Given the description of an element on the screen output the (x, y) to click on. 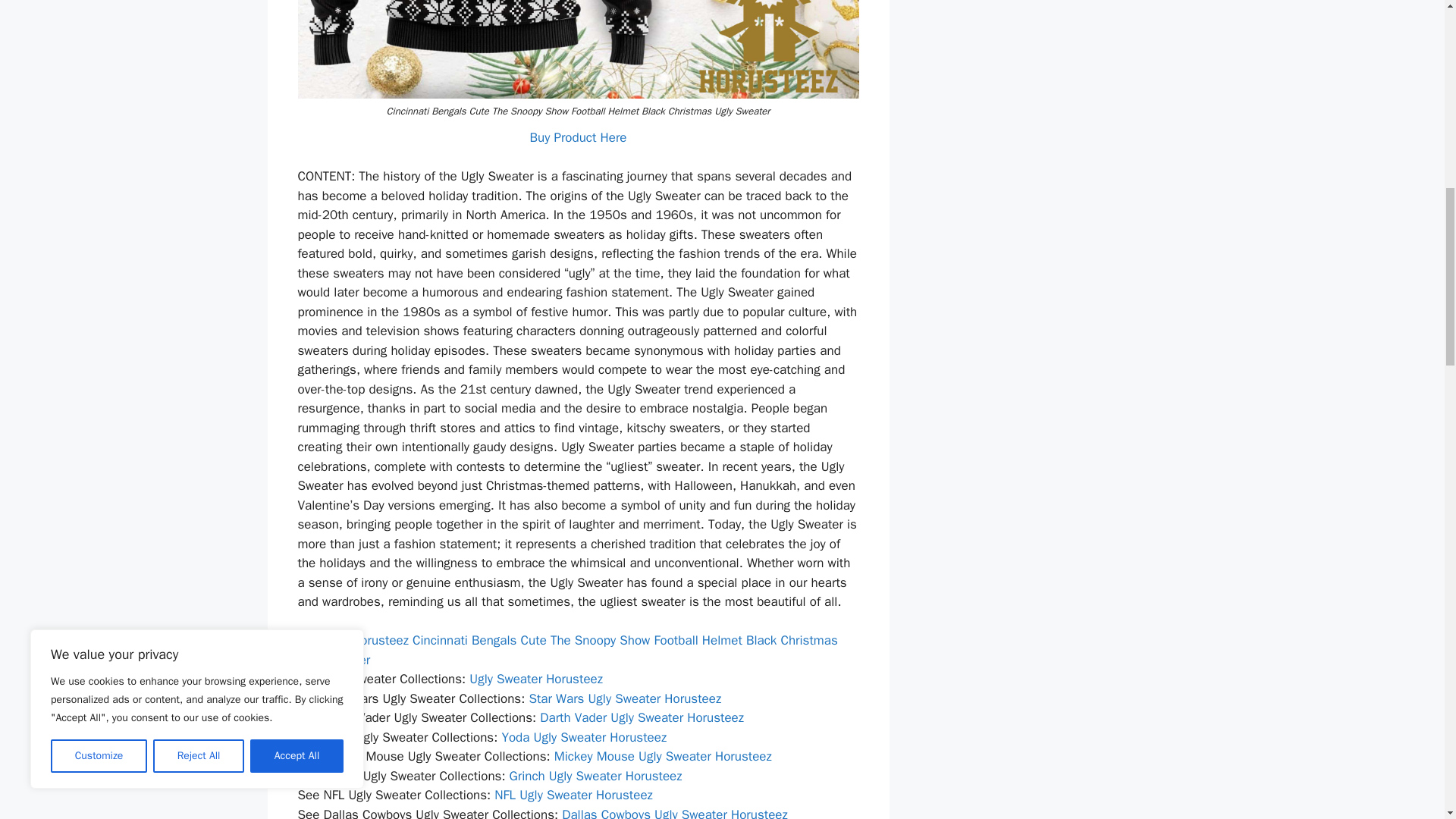
Star Wars Ugly Sweater Horusteez (624, 698)
NFL Ugly Sweater Horusteez (573, 795)
Dallas Cowboys Ugly Sweater Horusteez (674, 812)
Mickey Mouse Ugly Sweater Horusteez (662, 756)
Yoda Ugly Sweater Horusteez (583, 737)
Darth Vader Ugly Sweater Horusteez (642, 717)
Grinch Ugly Sweater Horusteez (595, 775)
Buy Product Here (577, 137)
Ugly Sweater Horusteez (535, 678)
